Given the description of an element on the screen output the (x, y) to click on. 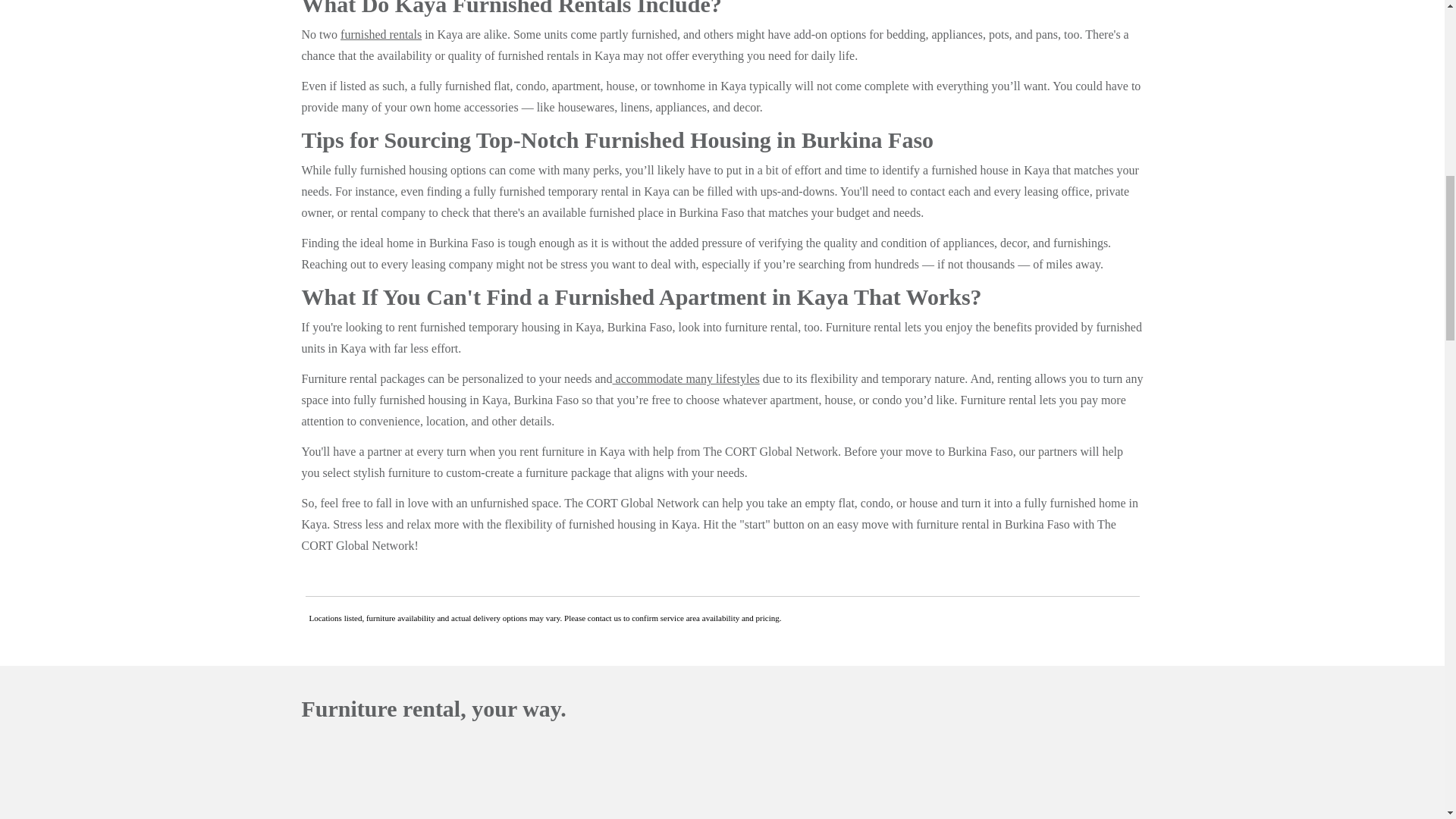
 accommodate many lifestyles (686, 378)
furnished rentals (381, 33)
